Given the description of an element on the screen output the (x, y) to click on. 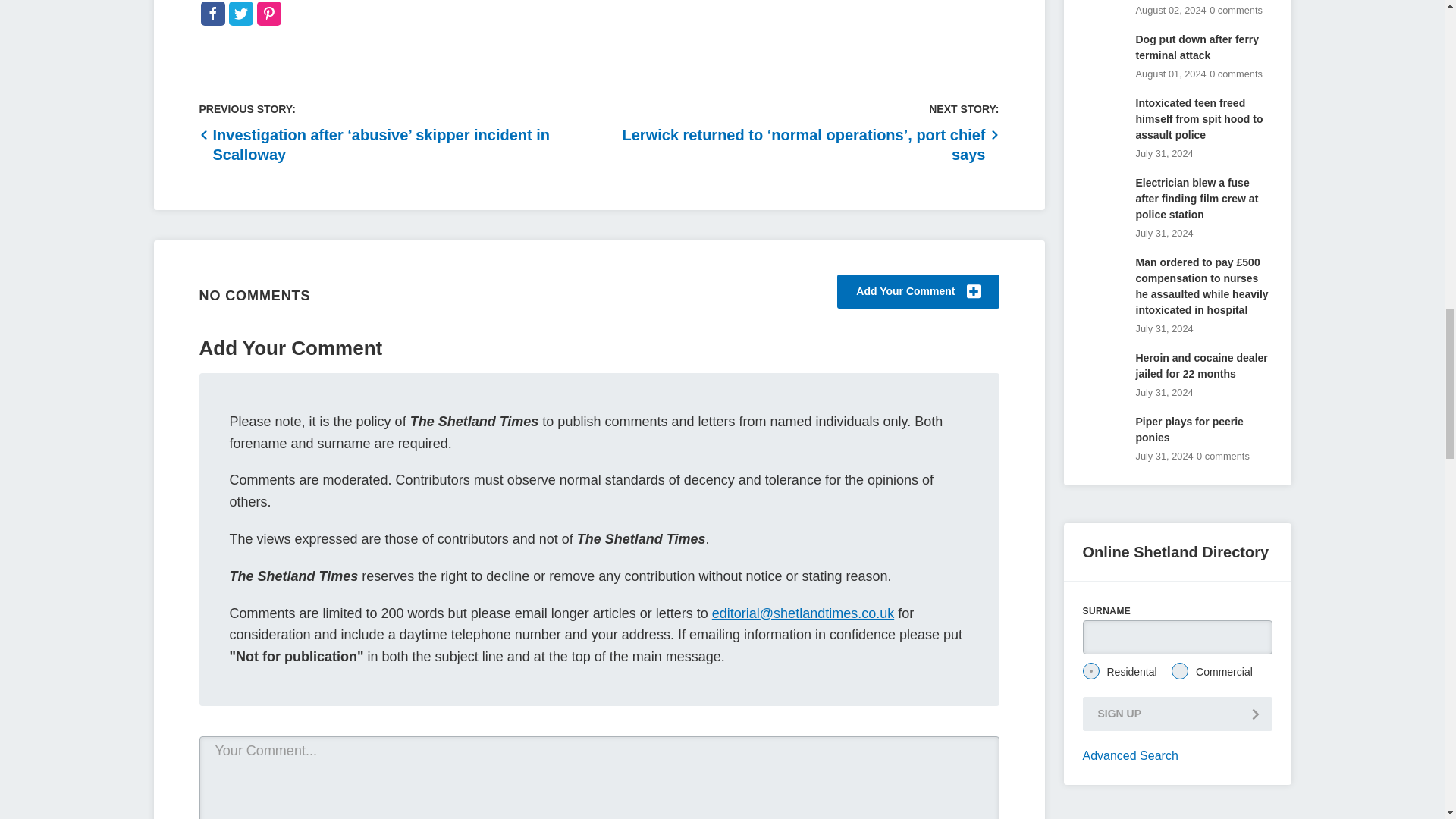
Add Your Comment (917, 291)
residential (1091, 670)
commercial (1180, 670)
